Given the description of an element on the screen output the (x, y) to click on. 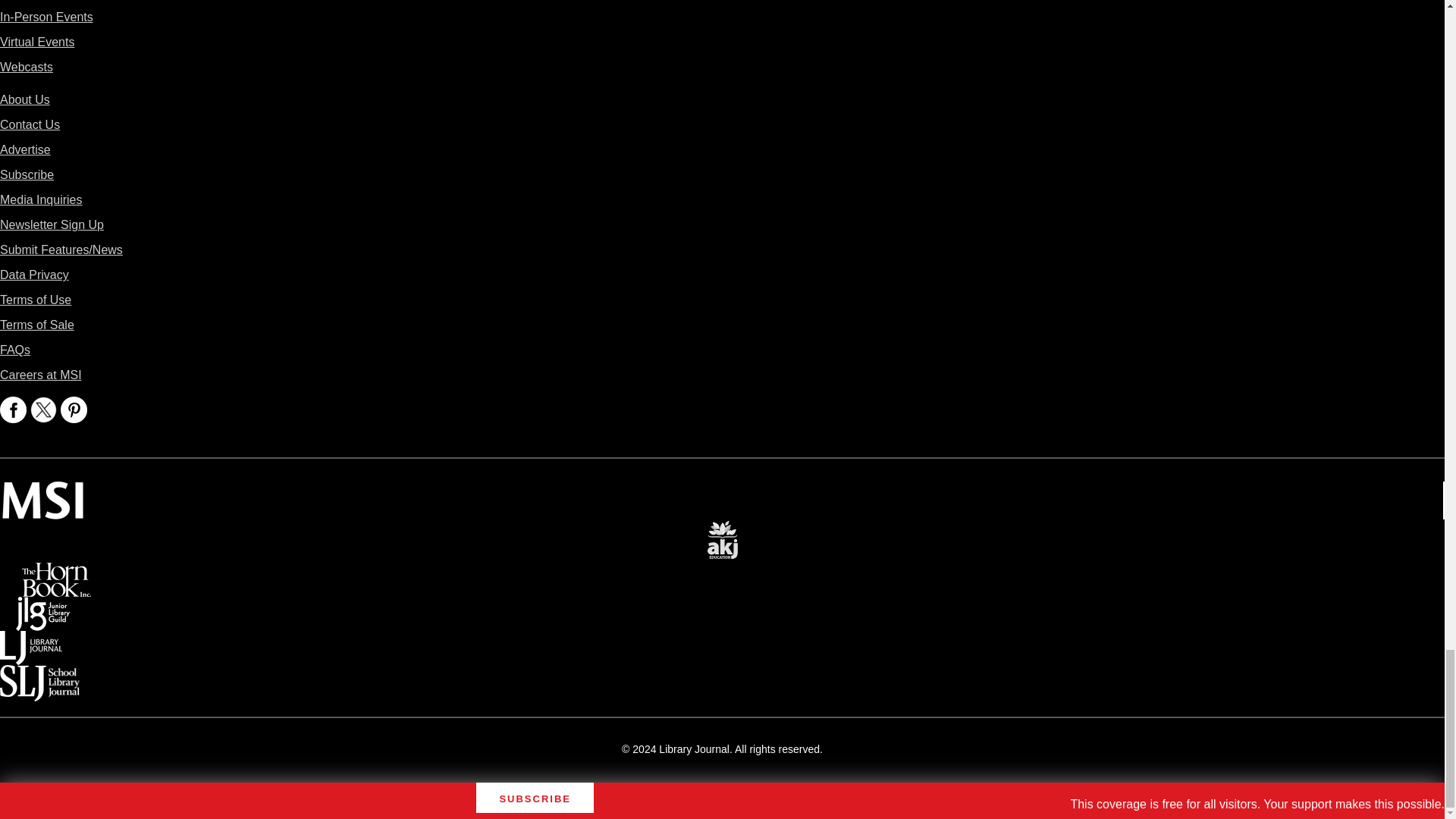
AKJ (722, 529)
School Library Journal (40, 675)
The Horn Book (56, 572)
Media Source Incorporated (42, 491)
Junior Library Guild (42, 607)
